Given the description of an element on the screen output the (x, y) to click on. 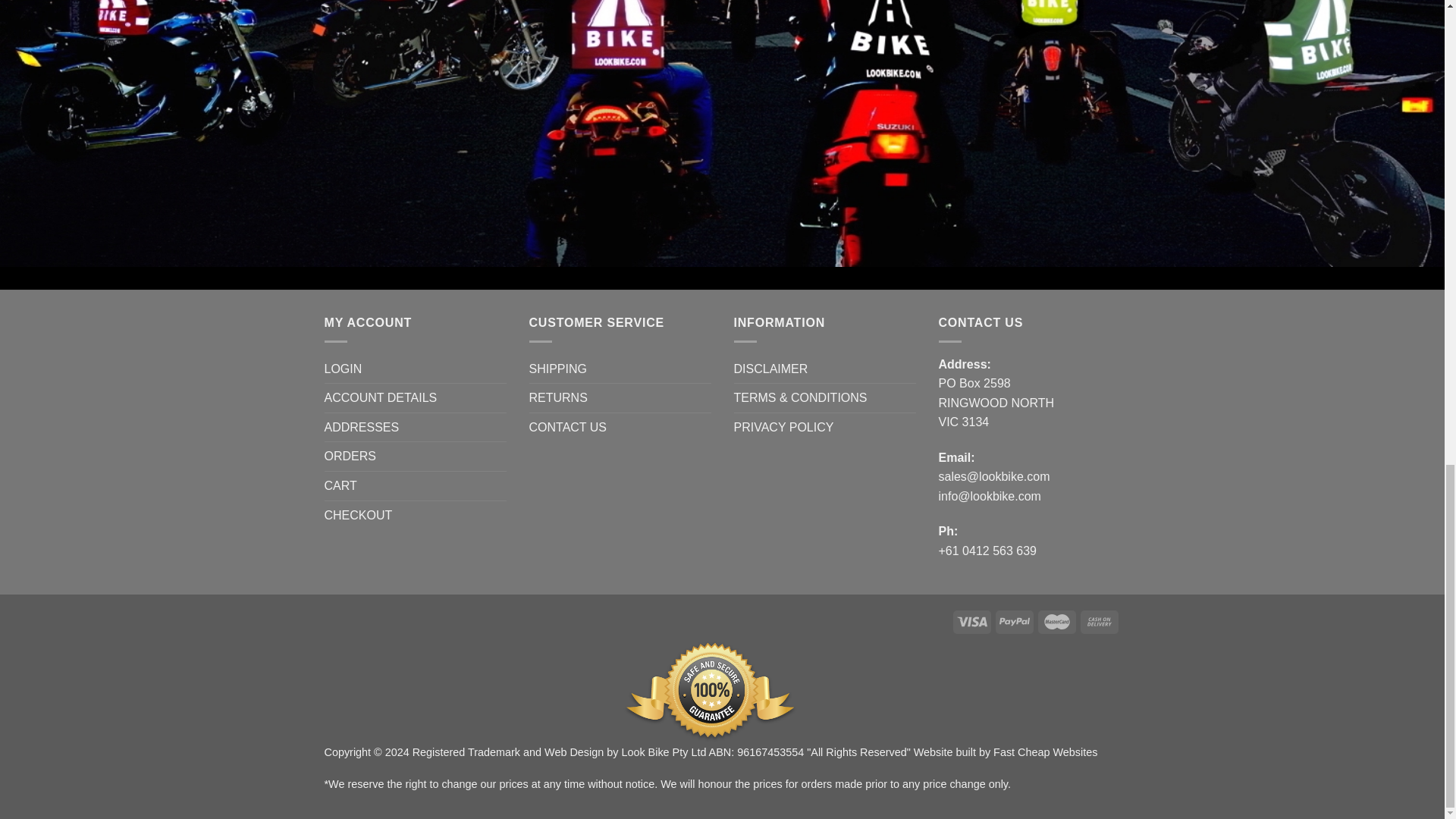
CART (340, 485)
LOGIN (343, 369)
PO Box 2598 (974, 382)
DISCLAIMER (770, 369)
PRIVACY POLICY (783, 427)
SHIPPING (557, 369)
Fast Cheap Websites (1044, 752)
CONTACT US (568, 427)
CHECKOUT (358, 515)
